Given the description of an element on the screen output the (x, y) to click on. 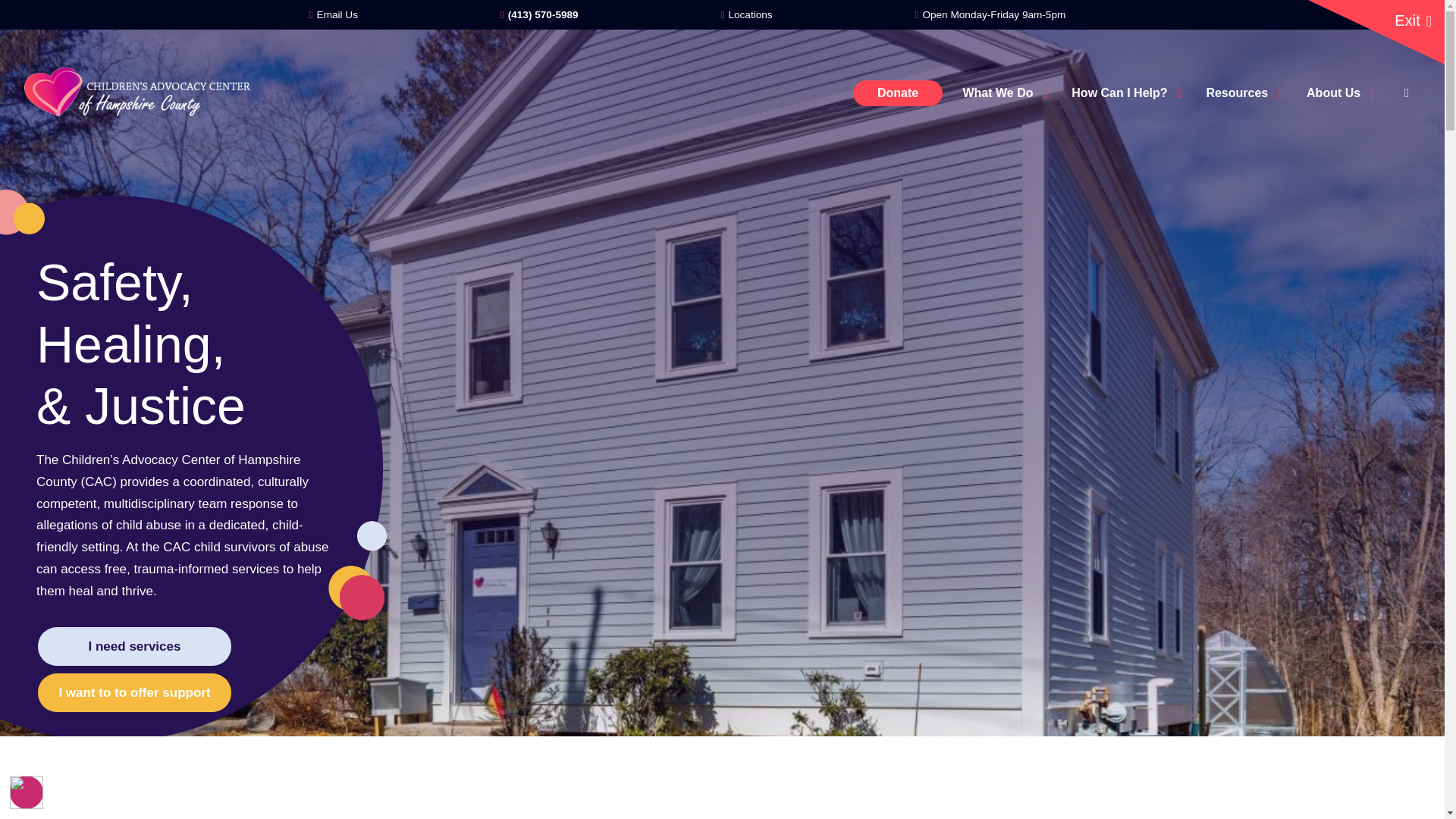
Accessibility Menu (26, 792)
